Given the description of an element on the screen output the (x, y) to click on. 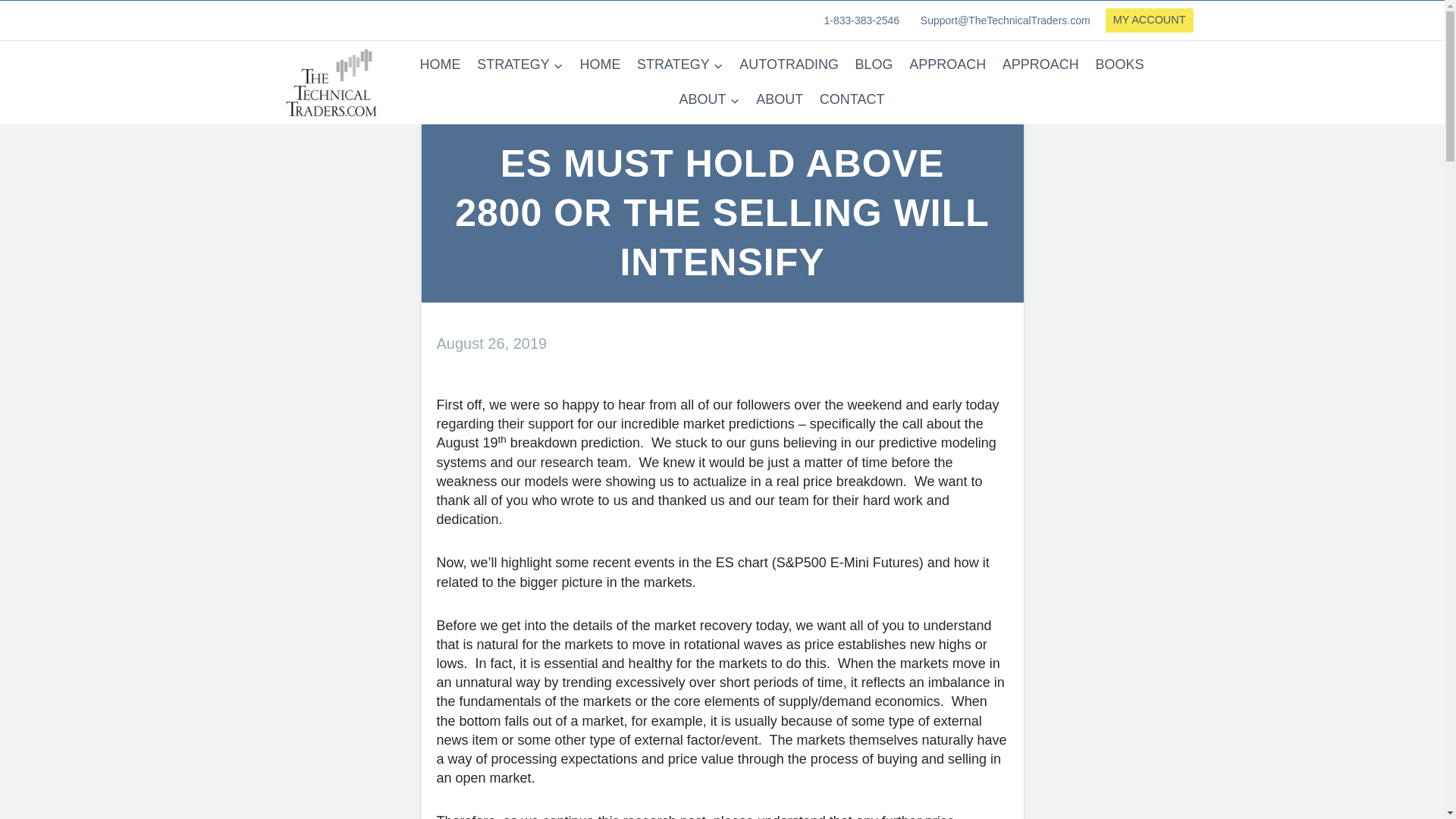
HOME (440, 64)
ABOUT (779, 99)
AUTOTRADING (787, 64)
APPROACH (947, 64)
BLOG (874, 64)
HOME (600, 64)
APPROACH (1040, 64)
ABOUT (709, 99)
 1-833-383-2546 (860, 20)
MY ACCOUNT (1149, 20)
STRATEGY (519, 64)
CONTACT (851, 99)
STRATEGY (679, 64)
BOOKS (1120, 64)
